Given the description of an element on the screen output the (x, y) to click on. 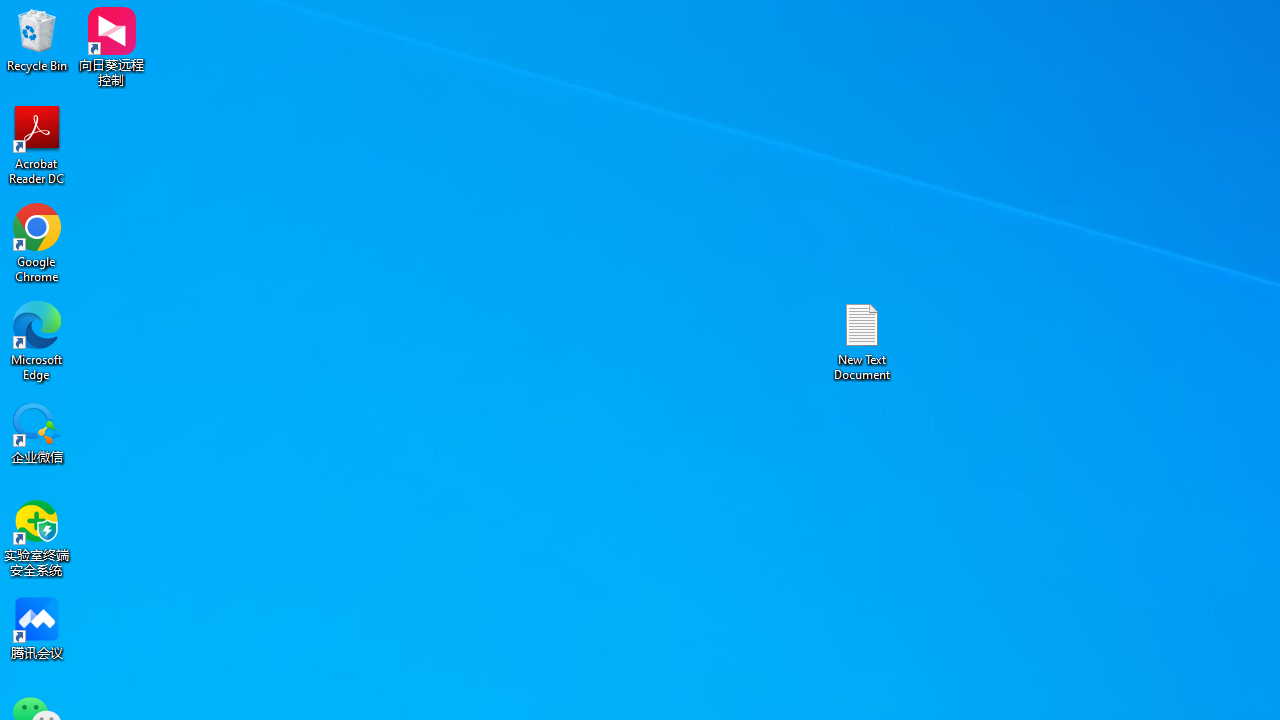
Microsoft Edge (37, 340)
Google Chrome (37, 242)
Recycle Bin (37, 39)
Acrobat Reader DC (37, 144)
New Text Document (861, 340)
